Given the description of an element on the screen output the (x, y) to click on. 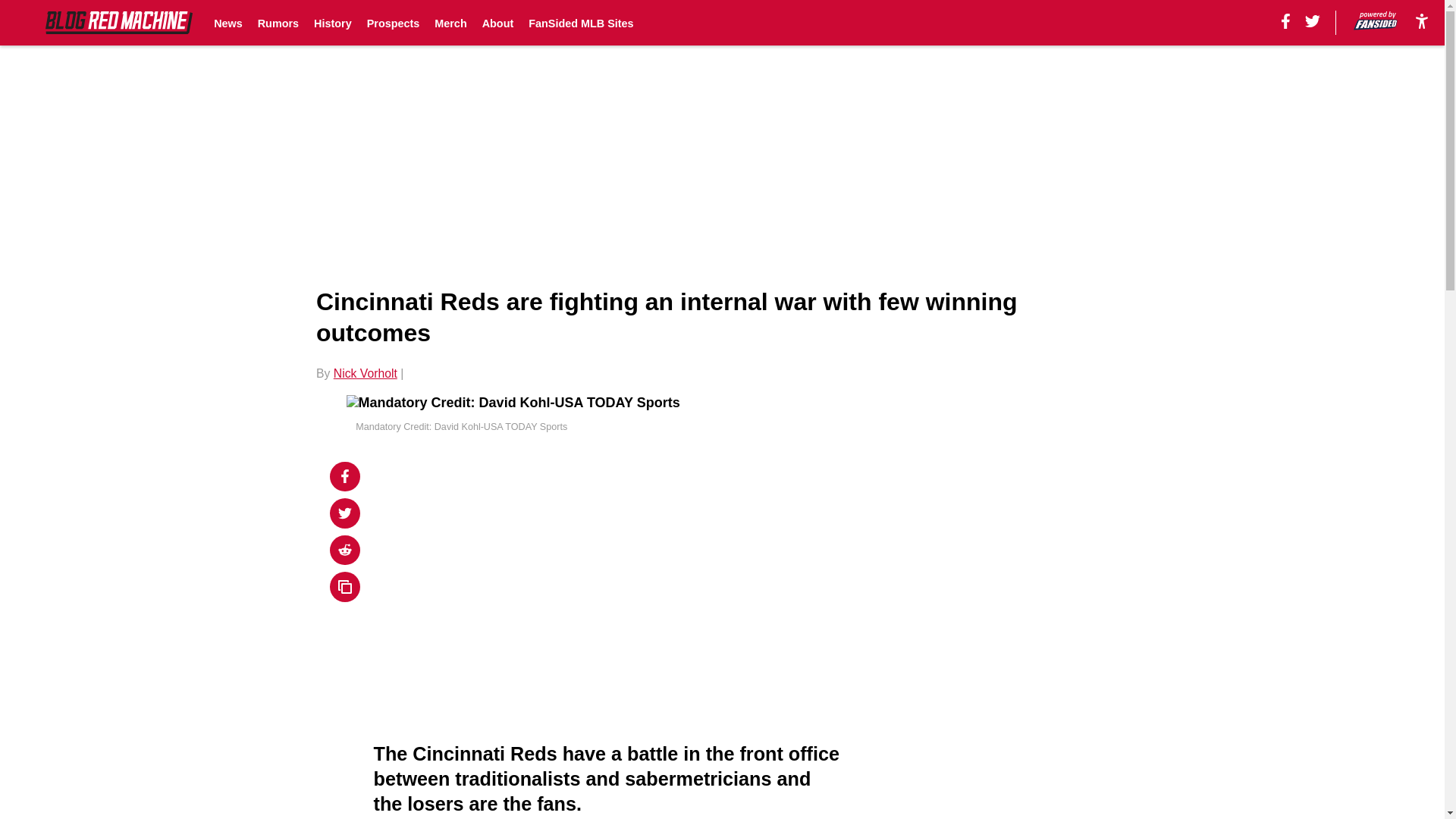
About (497, 23)
Rumors (277, 23)
News (228, 23)
Nick Vorholt (365, 373)
History (333, 23)
Prospects (393, 23)
Merch (449, 23)
FanSided MLB Sites (580, 23)
